Given the description of an element on the screen output the (x, y) to click on. 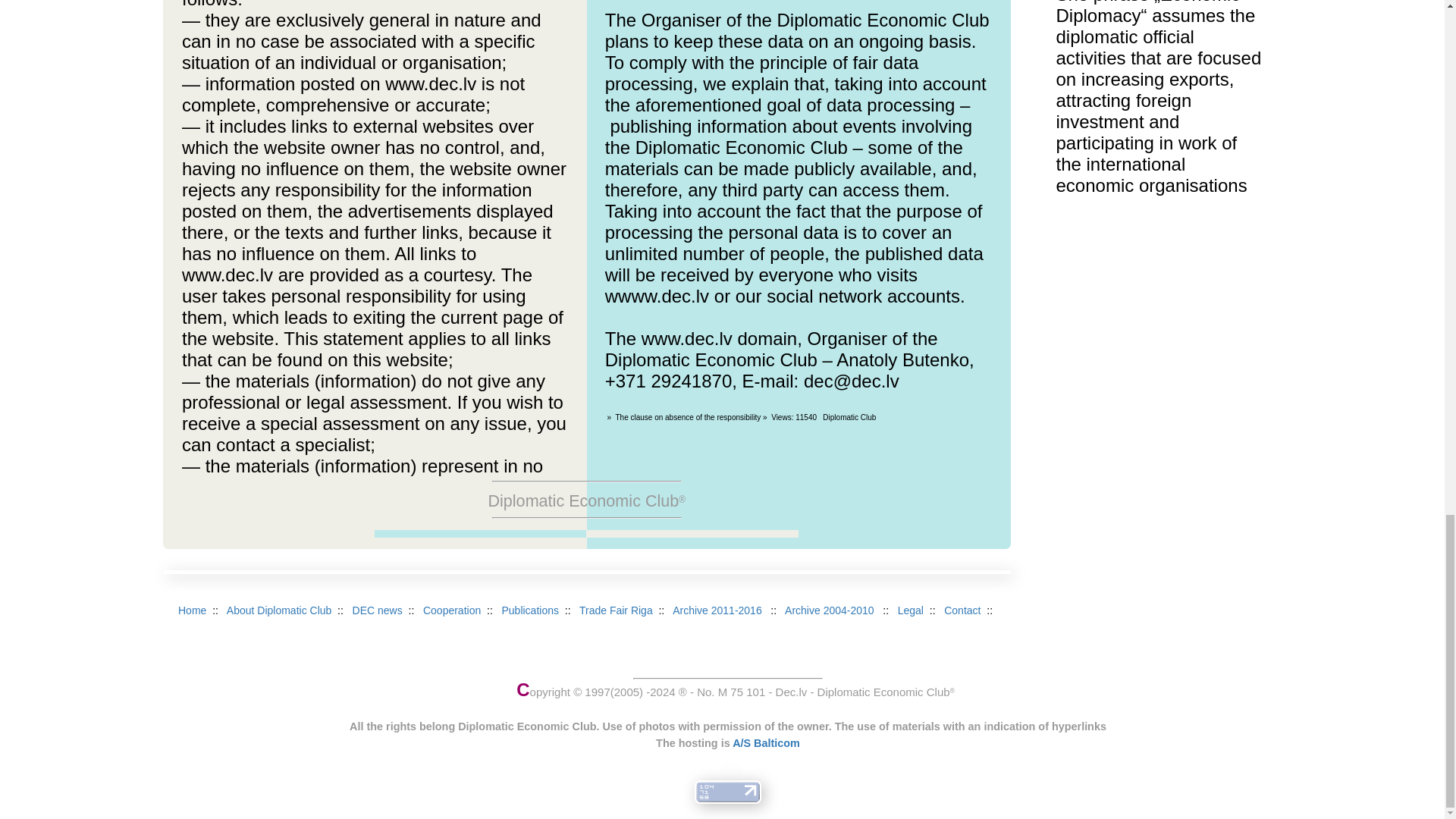
news (377, 610)
Publications (529, 610)
DEC news (377, 610)
Cooperation (451, 610)
About Diplomatic Club (279, 610)
Trade Fair Riga (615, 610)
Home (191, 610)
Contact (961, 610)
Legal (910, 610)
About Diplomatic Club (279, 610)
